Given the description of an element on the screen output the (x, y) to click on. 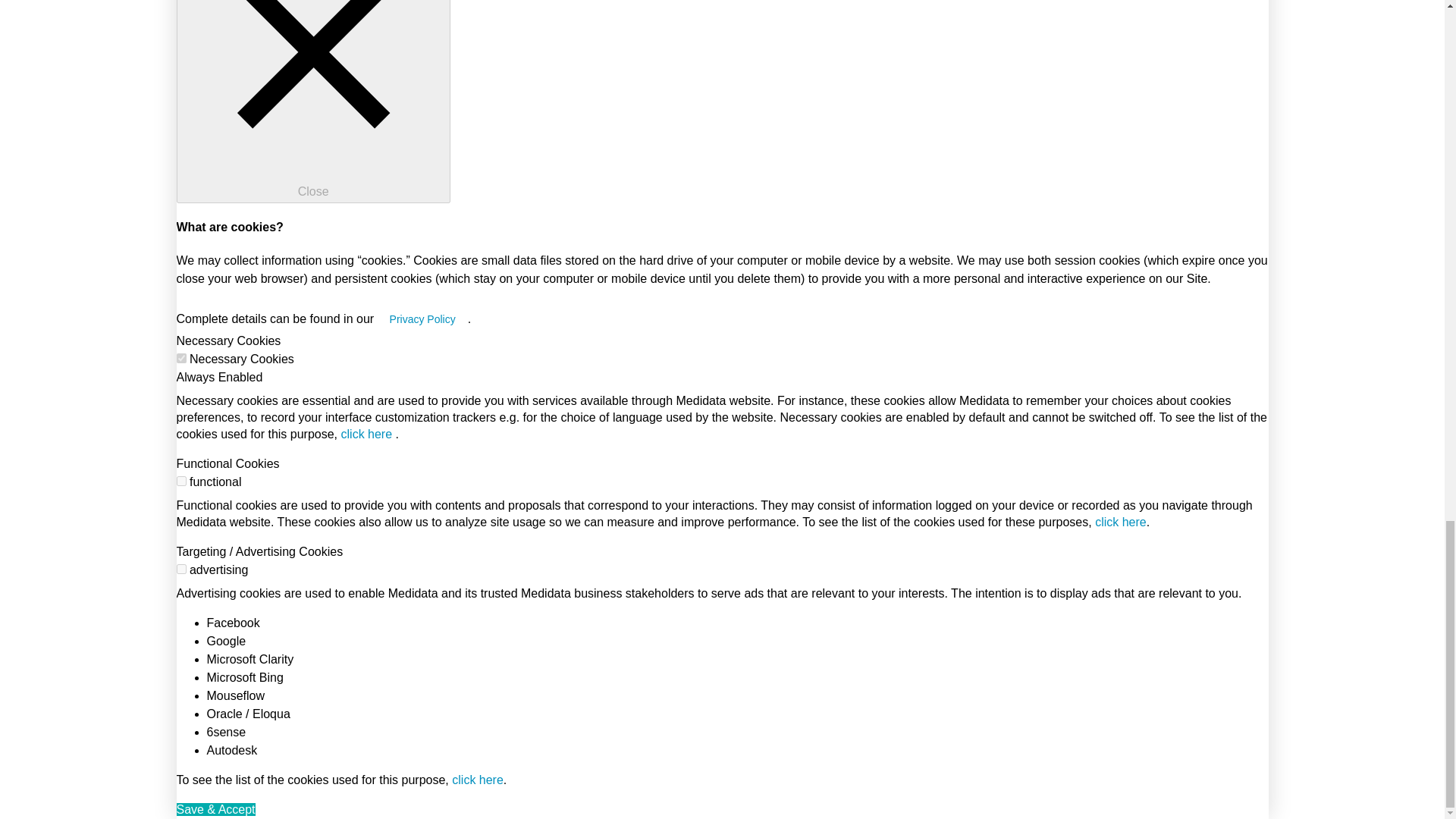
on (181, 480)
on (181, 357)
on (181, 569)
